Given the description of an element on the screen output the (x, y) to click on. 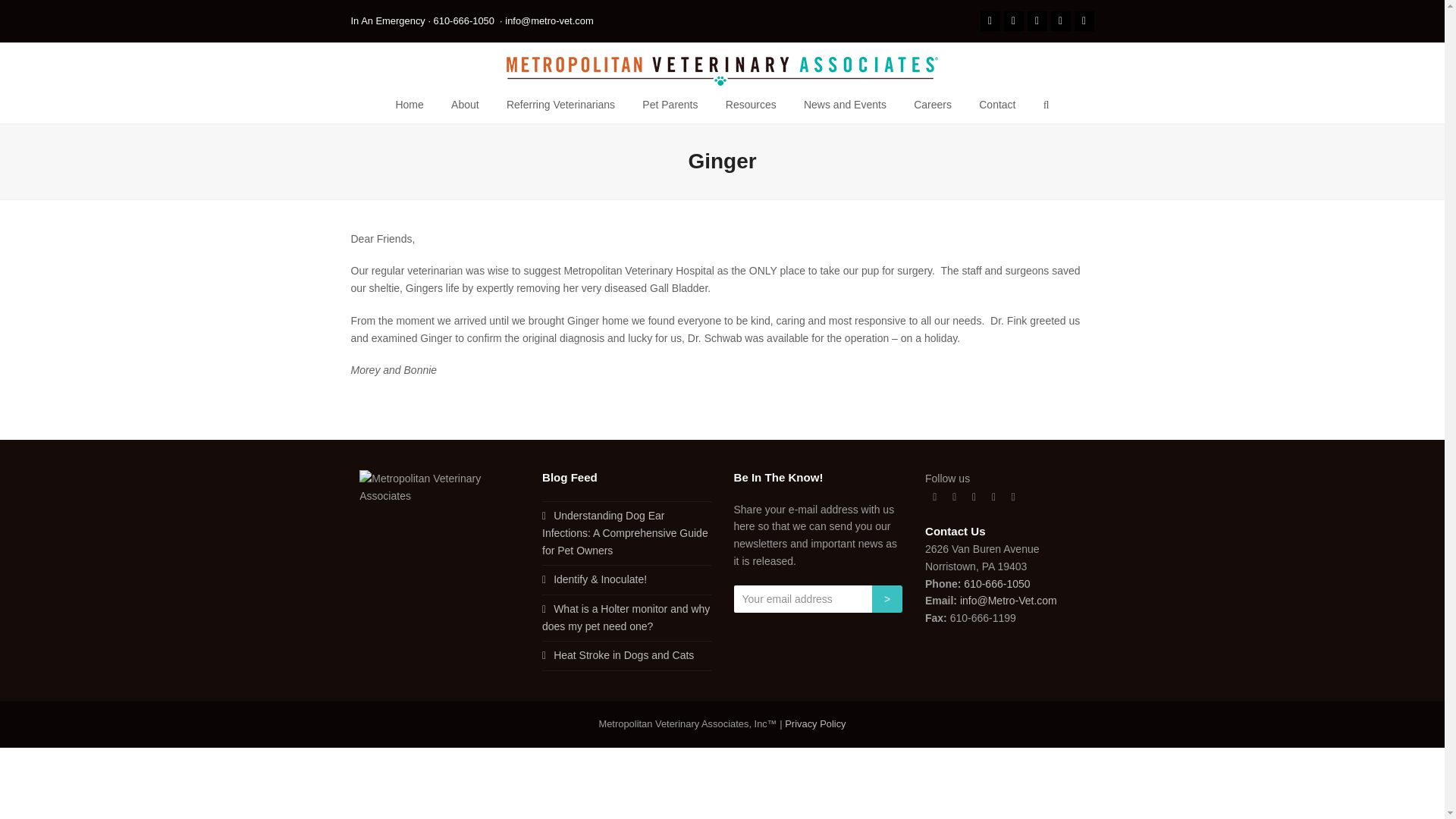
Instagram (973, 496)
610-666-1050 (464, 20)
Pet Parents (670, 104)
In An Emergency (387, 20)
Referring Veterinarians (561, 104)
Facebook (988, 21)
Emergency Services (464, 20)
Twitter (1036, 21)
Tiktok (1083, 21)
Home (408, 104)
Facebook (953, 496)
Youtube (994, 496)
In An Emergency (387, 20)
YouTube (1060, 21)
TikTok (1013, 496)
